Given the description of an element on the screen output the (x, y) to click on. 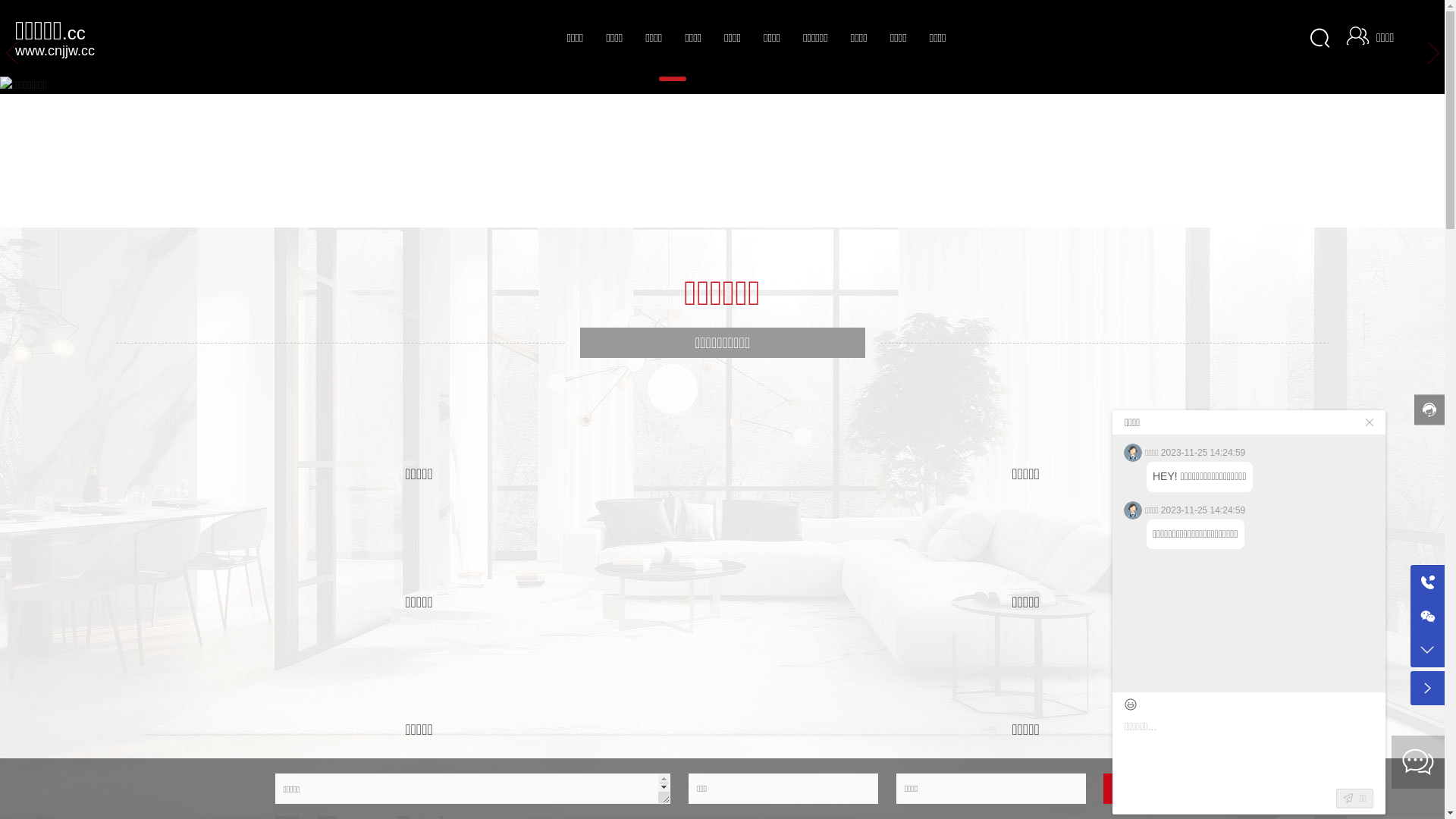
www.cnjjw.cc Element type: text (54, 49)
/EventList/29.html Element type: hover (418, 549)
/EventList/30.html Element type: hover (1025, 421)
/EventList/28.html Element type: hover (1025, 549)
/EventList/27.html Element type: hover (418, 678)
/EventList/26.html Element type: hover (1025, 678)
/EventList/32.html Element type: hover (418, 421)
